Given the description of an element on the screen output the (x, y) to click on. 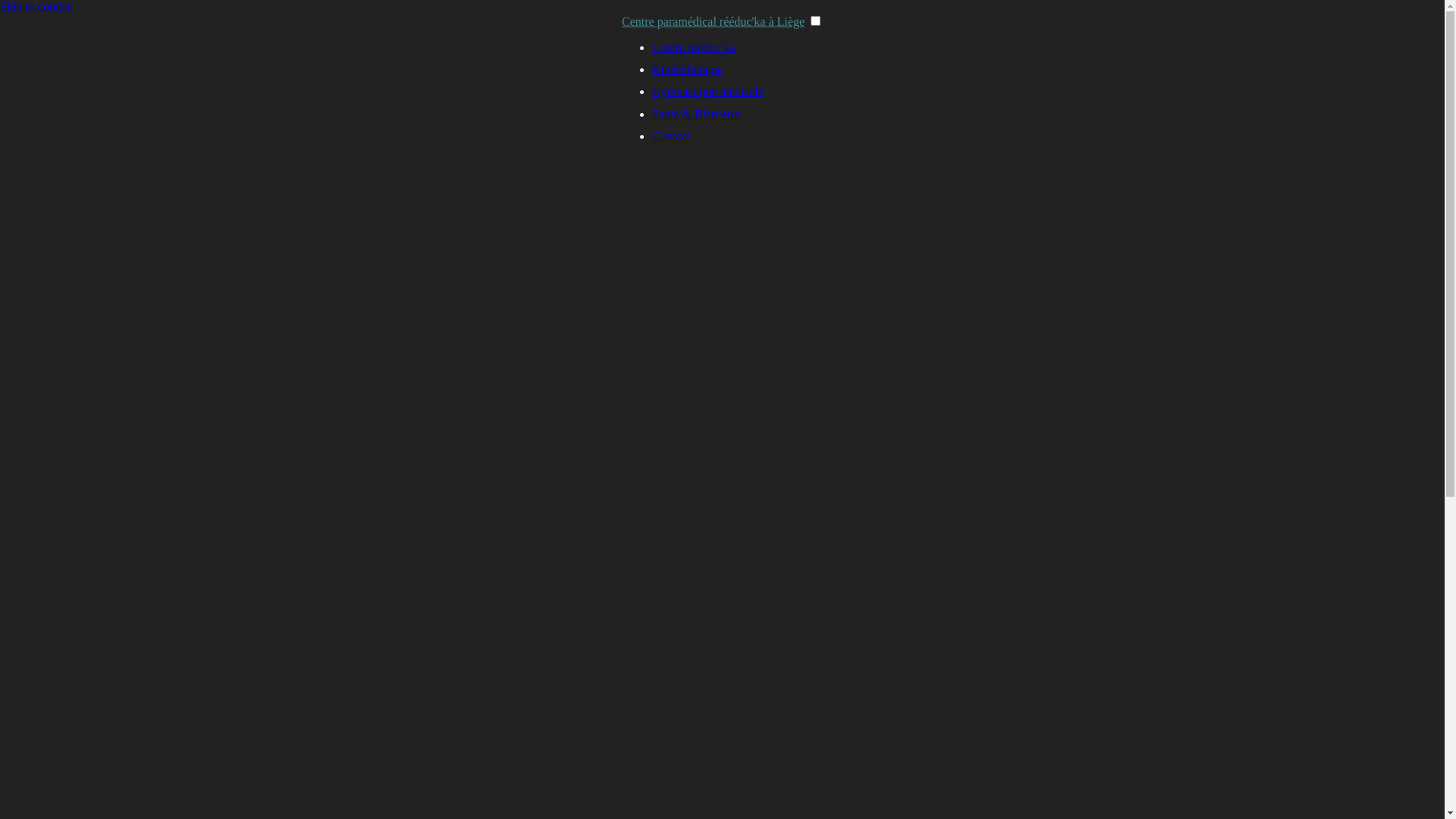
Skip to content Element type: text (36, 6)
Contact Element type: text (671, 135)
